Given the description of an element on the screen output the (x, y) to click on. 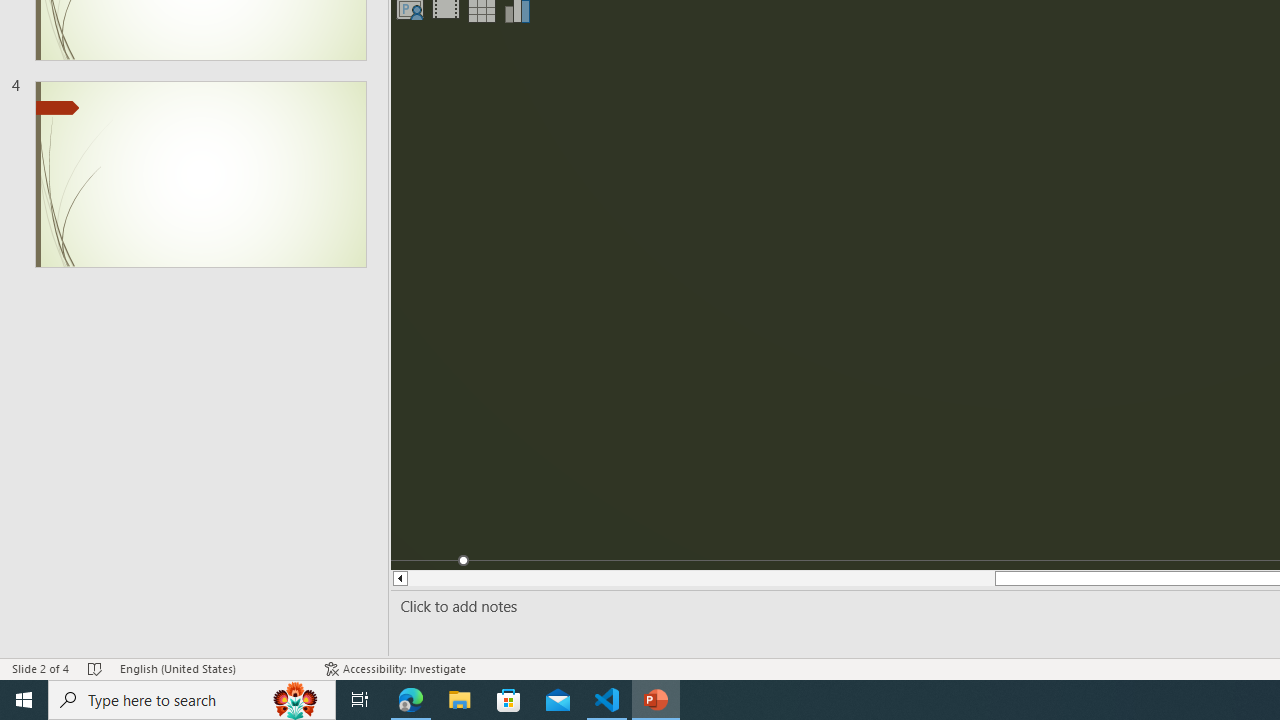
Accessibility Checker Accessibility: Investigate (395, 668)
